Given the description of an element on the screen output the (x, y) to click on. 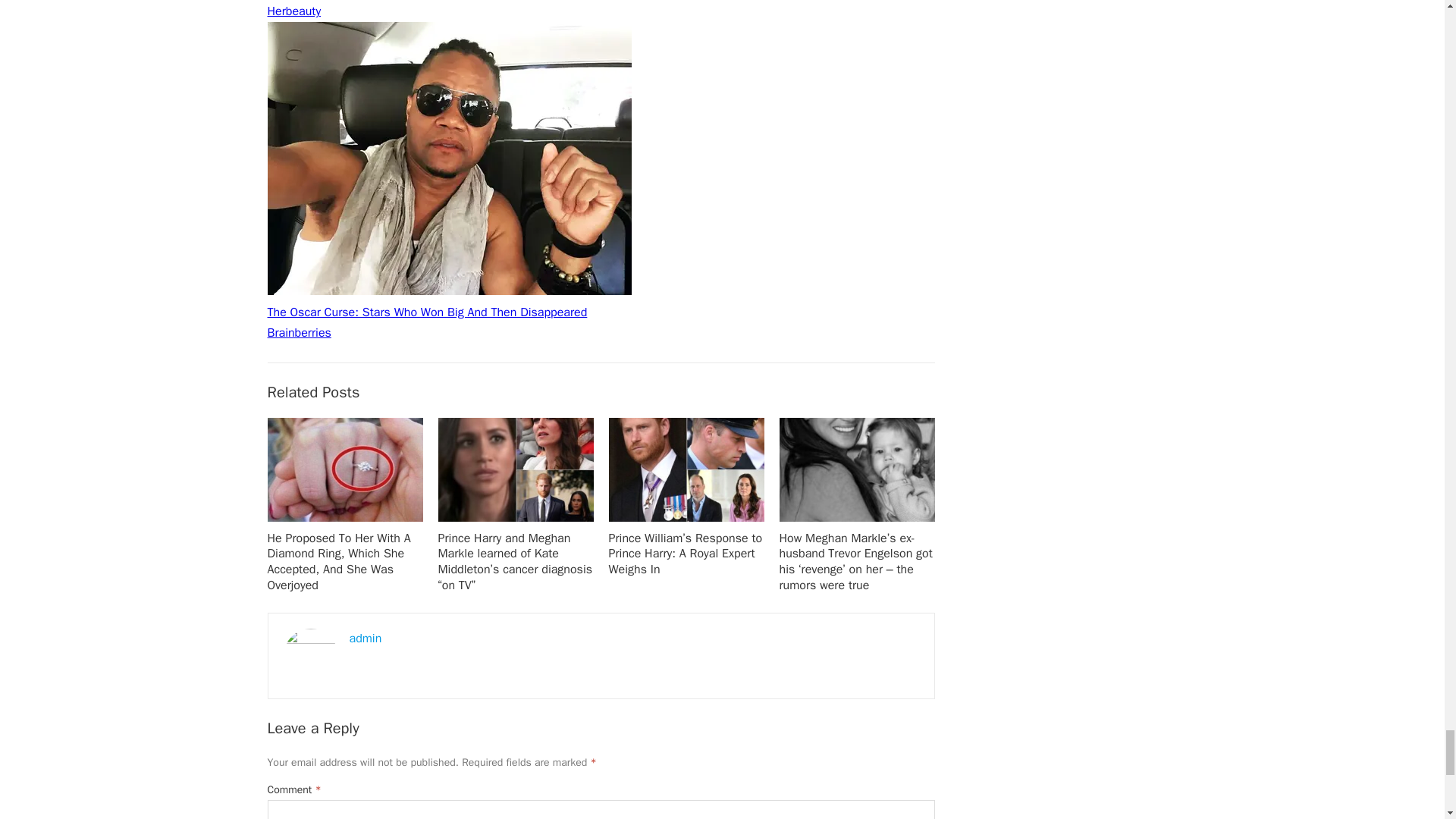
admin (365, 638)
